Given the description of an element on the screen output the (x, y) to click on. 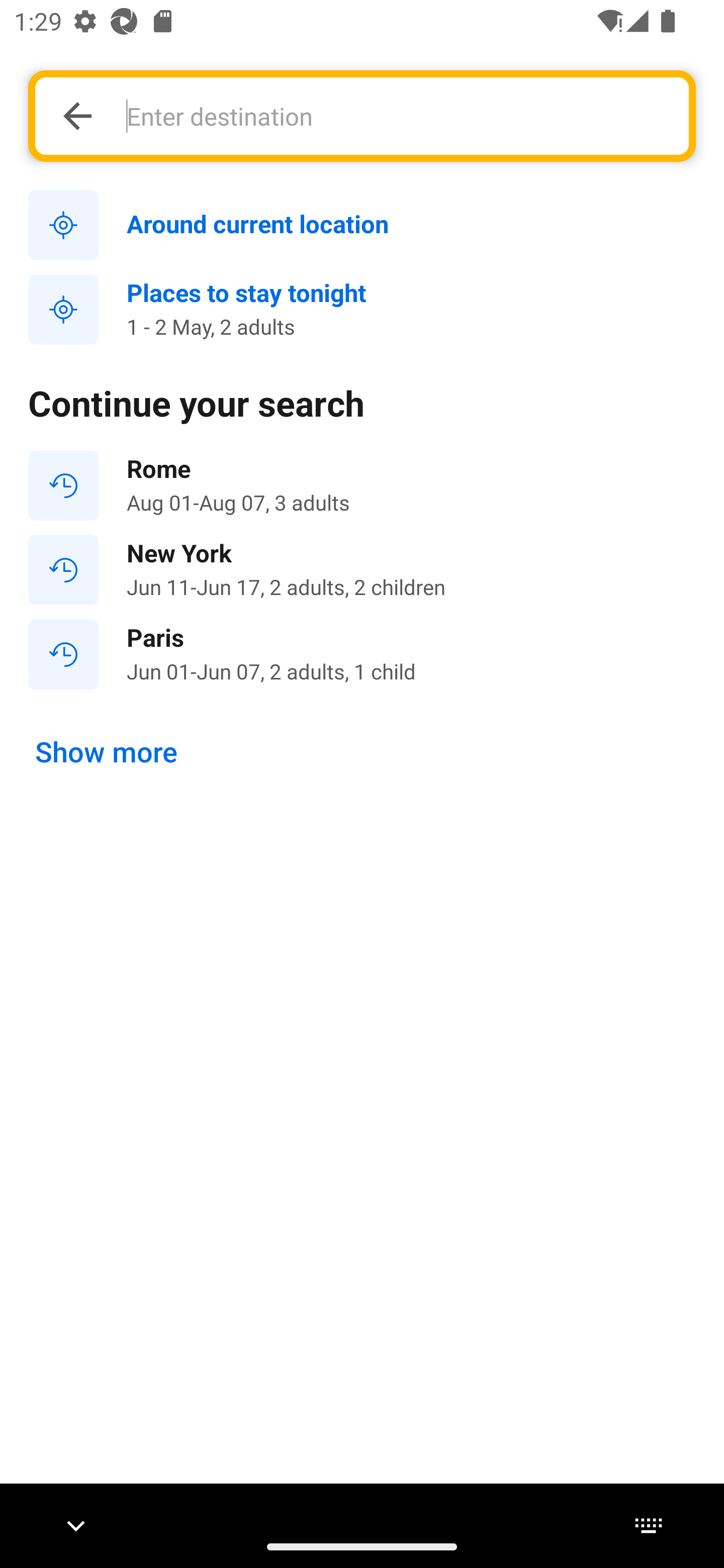
Enter destination (396, 115)
Around current location (362, 225)
Places to stay tonight 1 - 2 May, 2 adults (362, 309)
Rome Aug 01-Aug 07, 3 adults  (362, 485)
New York Jun 11-Jun 17, 2 adults, 2 children (362, 569)
Paris Jun 01-Jun 07, 2 adults, 1 child (362, 653)
Show more (106, 752)
